Given the description of an element on the screen output the (x, y) to click on. 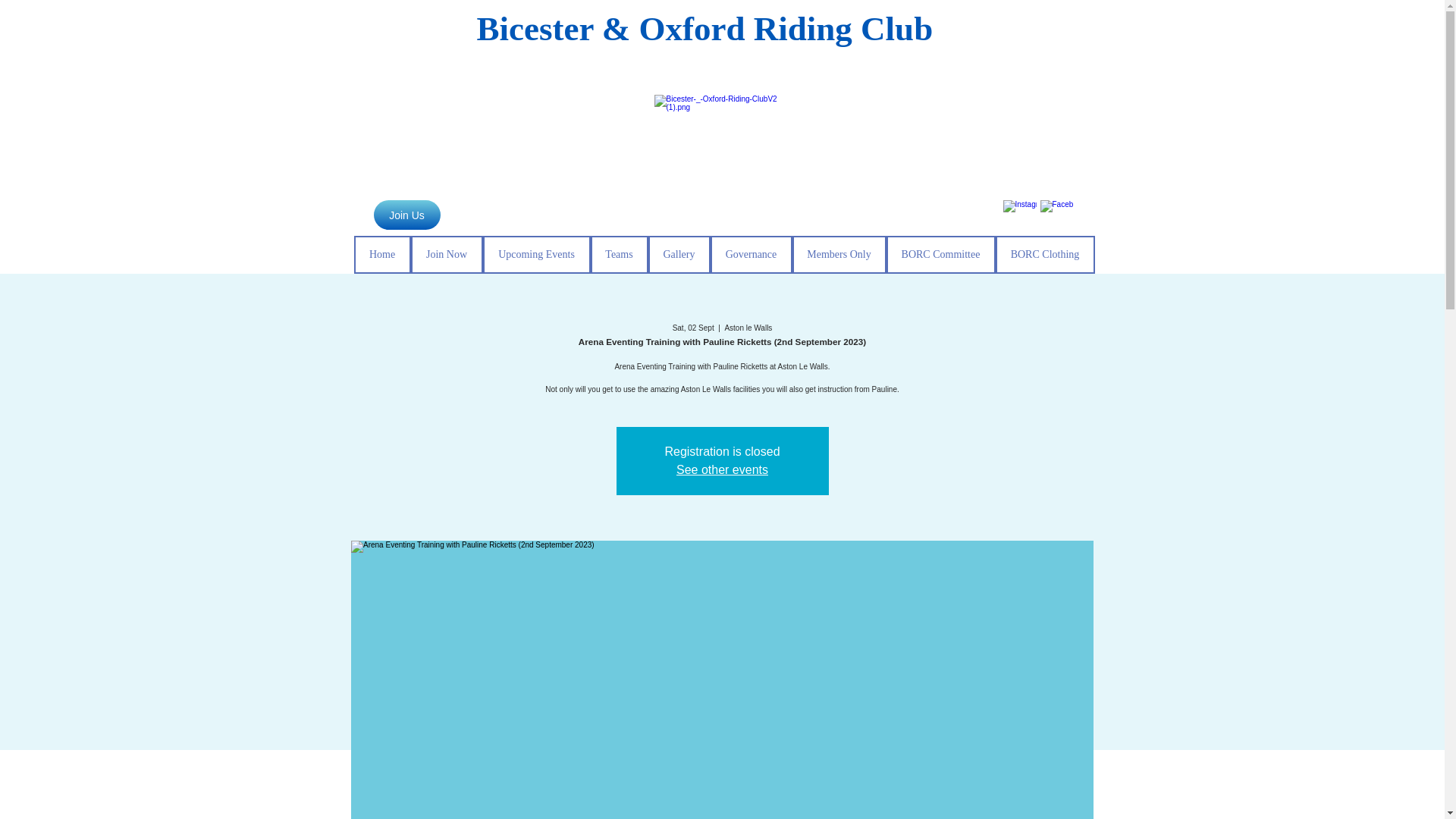
BORC Clothing (1044, 254)
BORC Committee (939, 254)
Join Us (405, 214)
Upcoming Events (535, 254)
Teams (618, 254)
Governance (751, 254)
See other events (722, 469)
Join Now (446, 254)
Gallery (678, 254)
Members Only (838, 254)
